Given the description of an element on the screen output the (x, y) to click on. 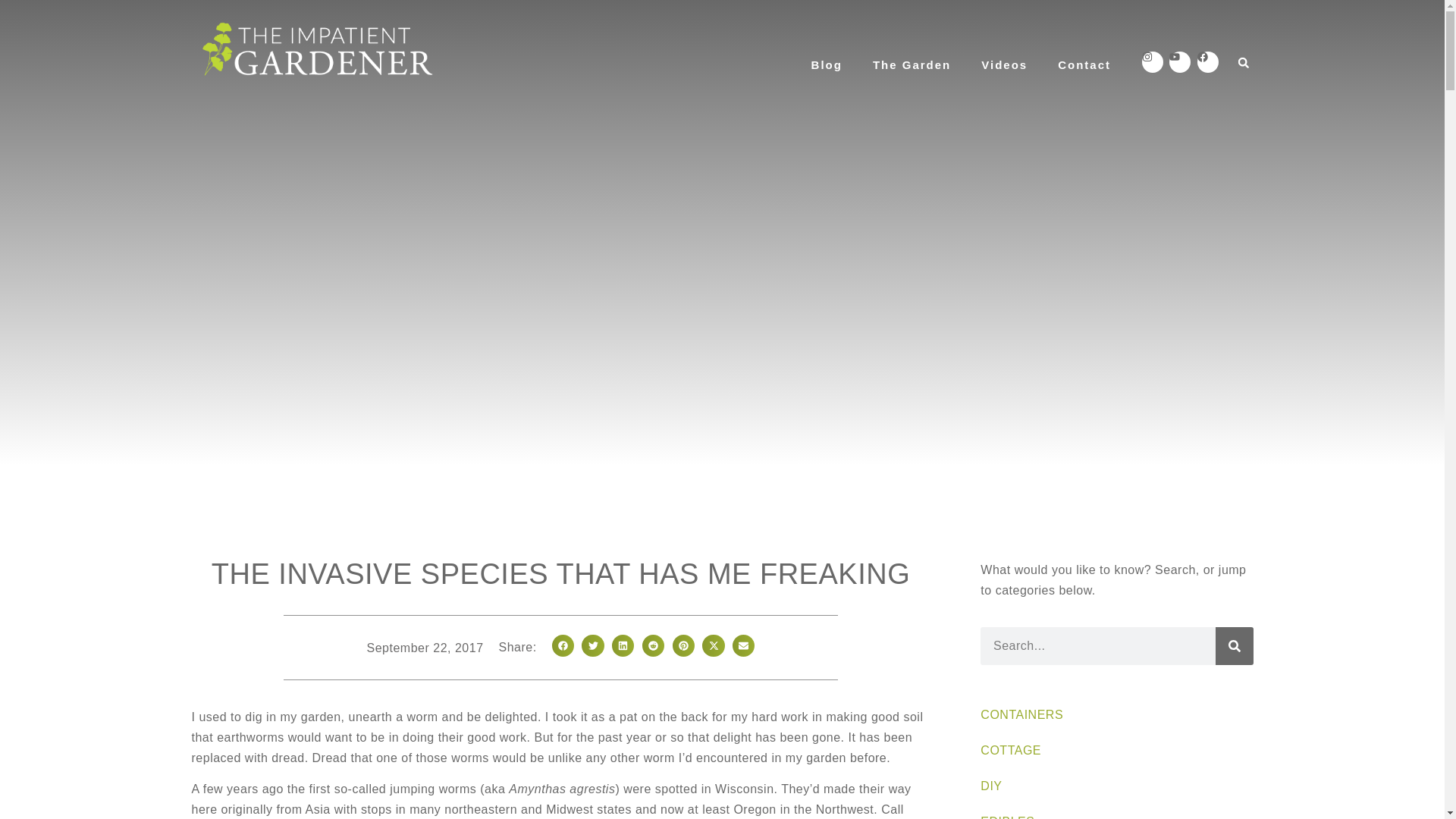
The Garden (911, 64)
September 22, 2017 (424, 648)
Blog (826, 64)
Contact (1083, 64)
Videos (1004, 64)
